Given the description of an element on the screen output the (x, y) to click on. 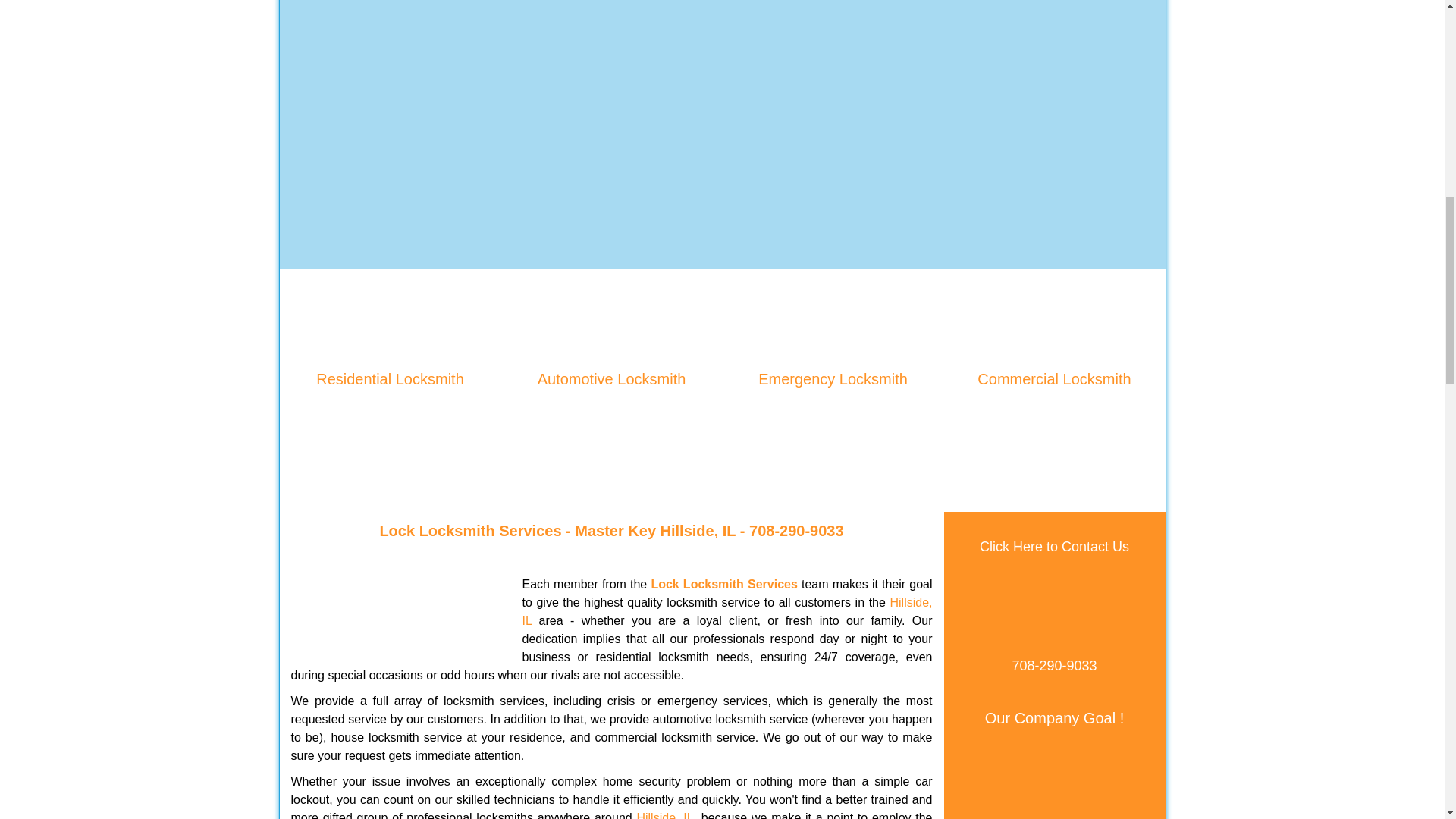
Read More (832, 404)
Read More (1053, 404)
Hillside, IL (664, 815)
Commercial Locksmith (1053, 379)
Lock Locksmith Services (723, 584)
Click Here to Contact Us (1054, 546)
Emergency Locksmith (832, 379)
Hillside, IL (726, 611)
Read More (390, 404)
Automotive Locksmith (611, 379)
Hillside, IL (698, 530)
708-290-9033 (796, 530)
Residential Locksmith (389, 379)
Read More (611, 404)
